Given the description of an element on the screen output the (x, y) to click on. 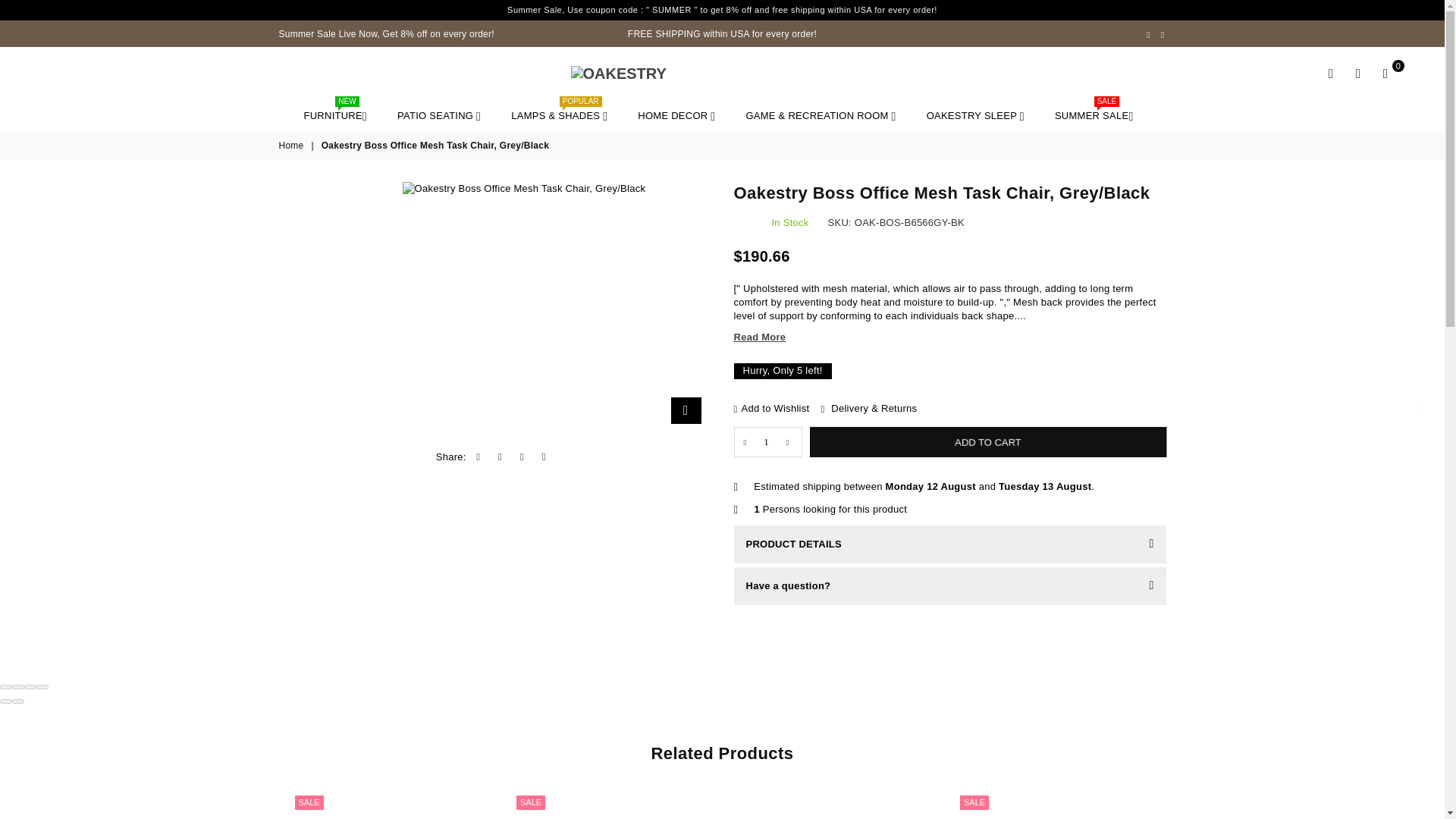
Toggle fullscreen (30, 686)
Share on Facebook (478, 457)
Oakestry on Instagram (1163, 34)
Facebook (1148, 34)
Share by Email (544, 457)
Quantity (767, 441)
Cart (1385, 73)
Search (1330, 73)
Wishlist (1357, 73)
OAKESTRY (722, 73)
Share (17, 686)
Pin on Pinterest (521, 457)
Instagram (1163, 34)
Back to the home page (292, 145)
0 (1385, 73)
